Given the description of an element on the screen output the (x, y) to click on. 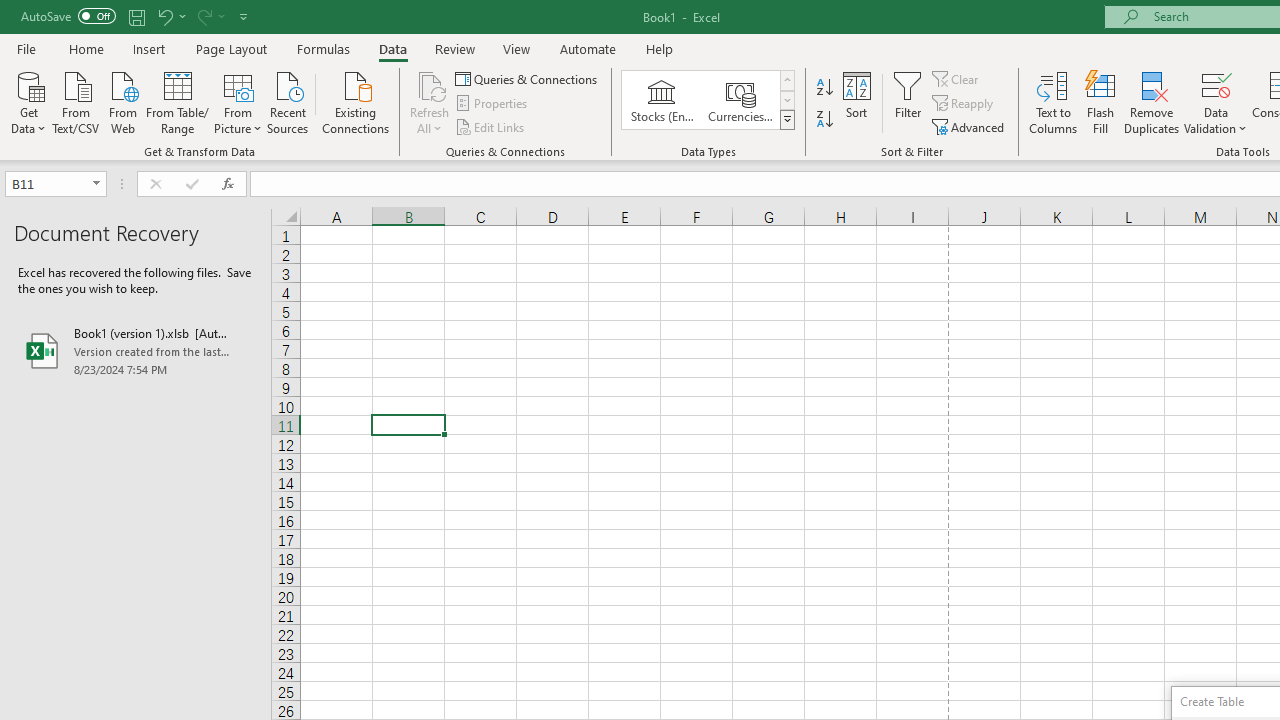
Home (86, 48)
Data Validation... (1215, 84)
AutoSave (68, 16)
Flash Fill (1101, 102)
Refresh All (429, 102)
Edit Links (491, 126)
Sort... (856, 102)
Stocks (English) (662, 100)
Refresh All (429, 84)
File Tab (26, 48)
Insert (149, 48)
Clear (957, 78)
